Given the description of an element on the screen output the (x, y) to click on. 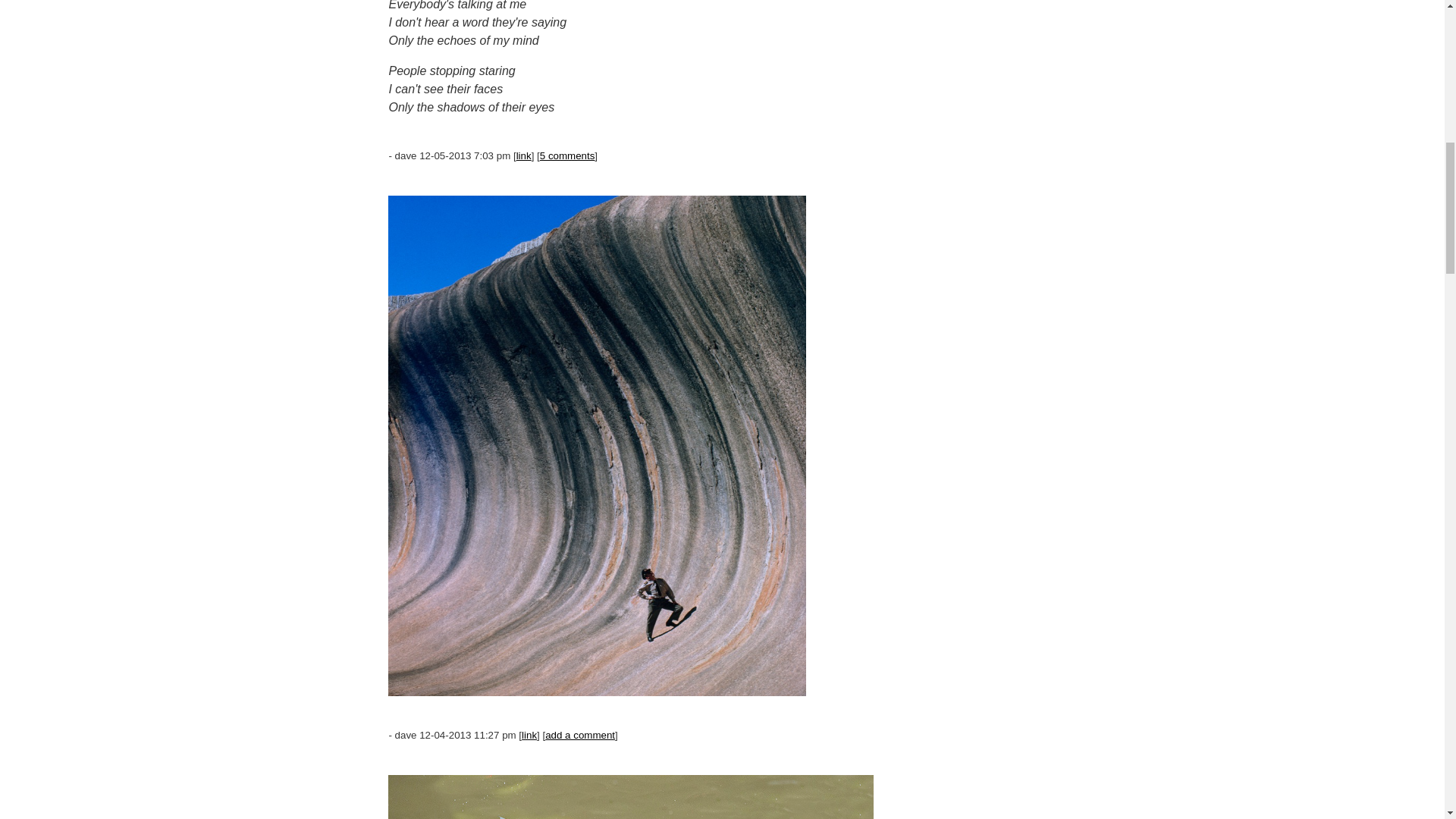
add a comment (579, 735)
link (523, 155)
link (529, 735)
5 comments (567, 155)
